Given the description of an element on the screen output the (x, y) to click on. 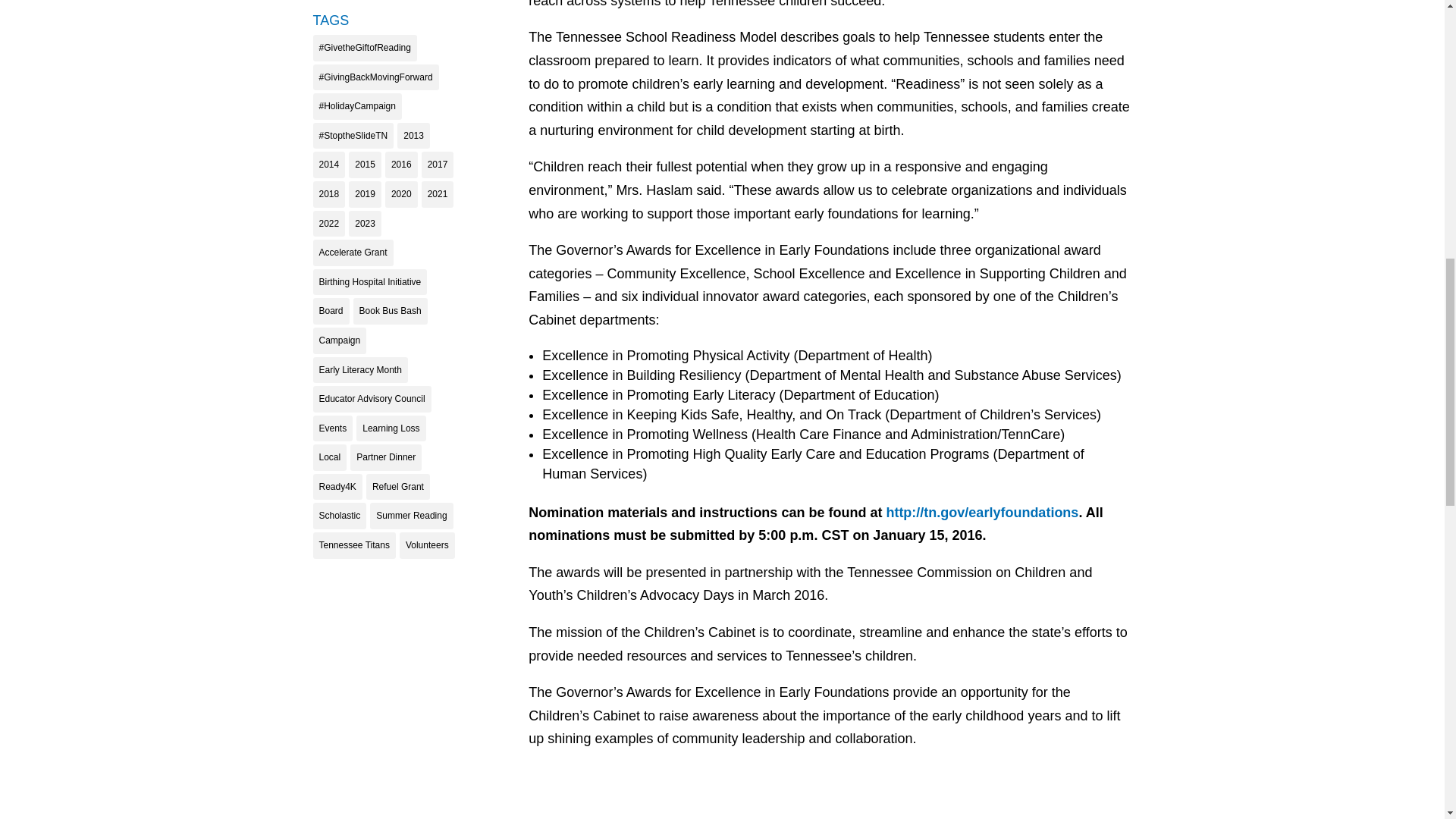
2018 (329, 194)
2016 (401, 164)
2019 (365, 194)
2013 (413, 135)
2015 (365, 164)
2014 (329, 164)
2020 (401, 194)
2017 (438, 164)
2021 (438, 194)
